Given the description of an element on the screen output the (x, y) to click on. 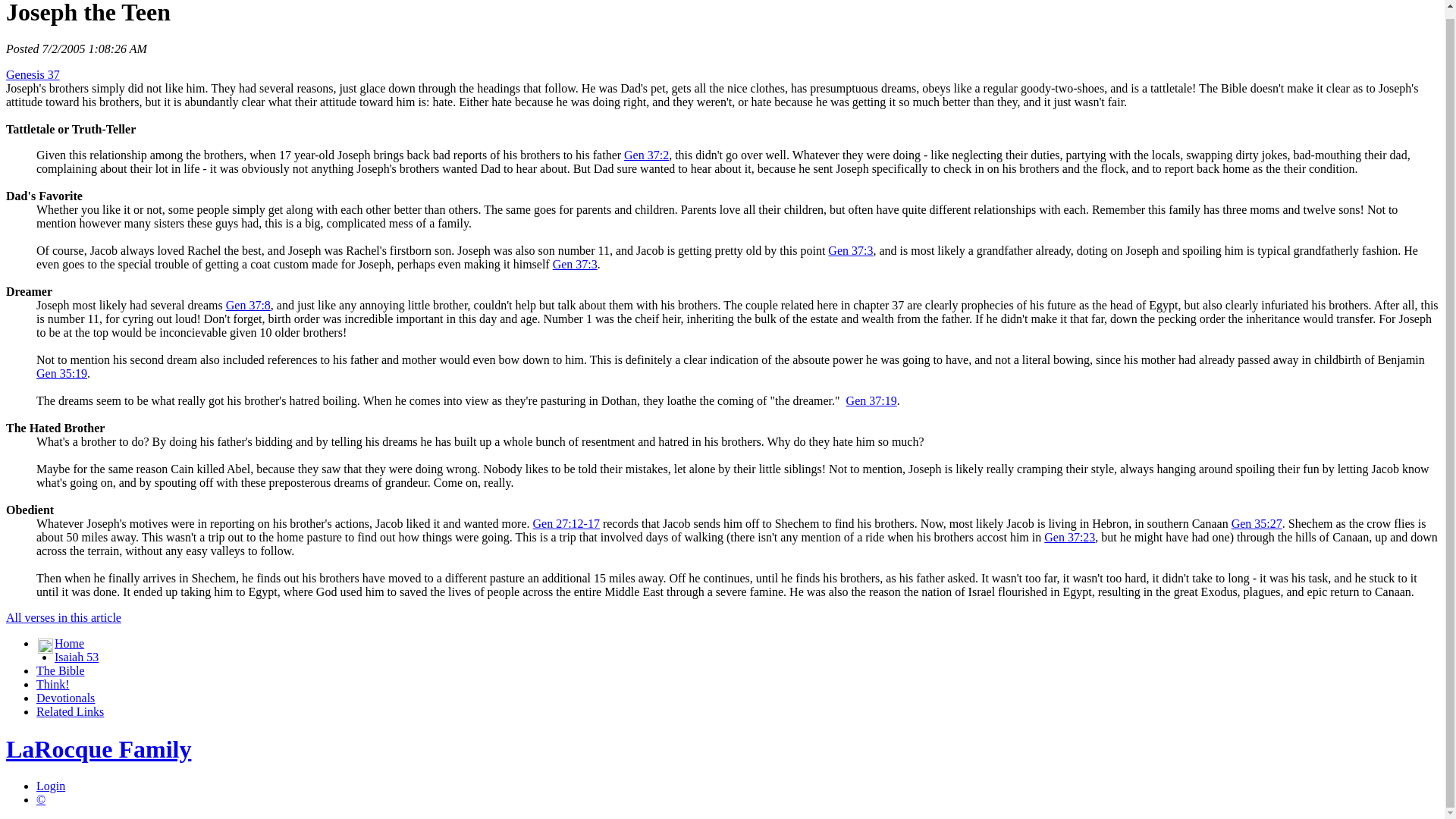
Gen 37:2 (646, 154)
Isaiah 53 Home (77, 656)
View all verses in this article (62, 617)
Useful links (69, 711)
View passage (646, 154)
Devotionals and Bible studies (65, 697)
Genesis 37 (32, 74)
Isaiah 53 (77, 656)
View passage (61, 373)
Gen 37:19 (870, 400)
